Given the description of an element on the screen output the (x, y) to click on. 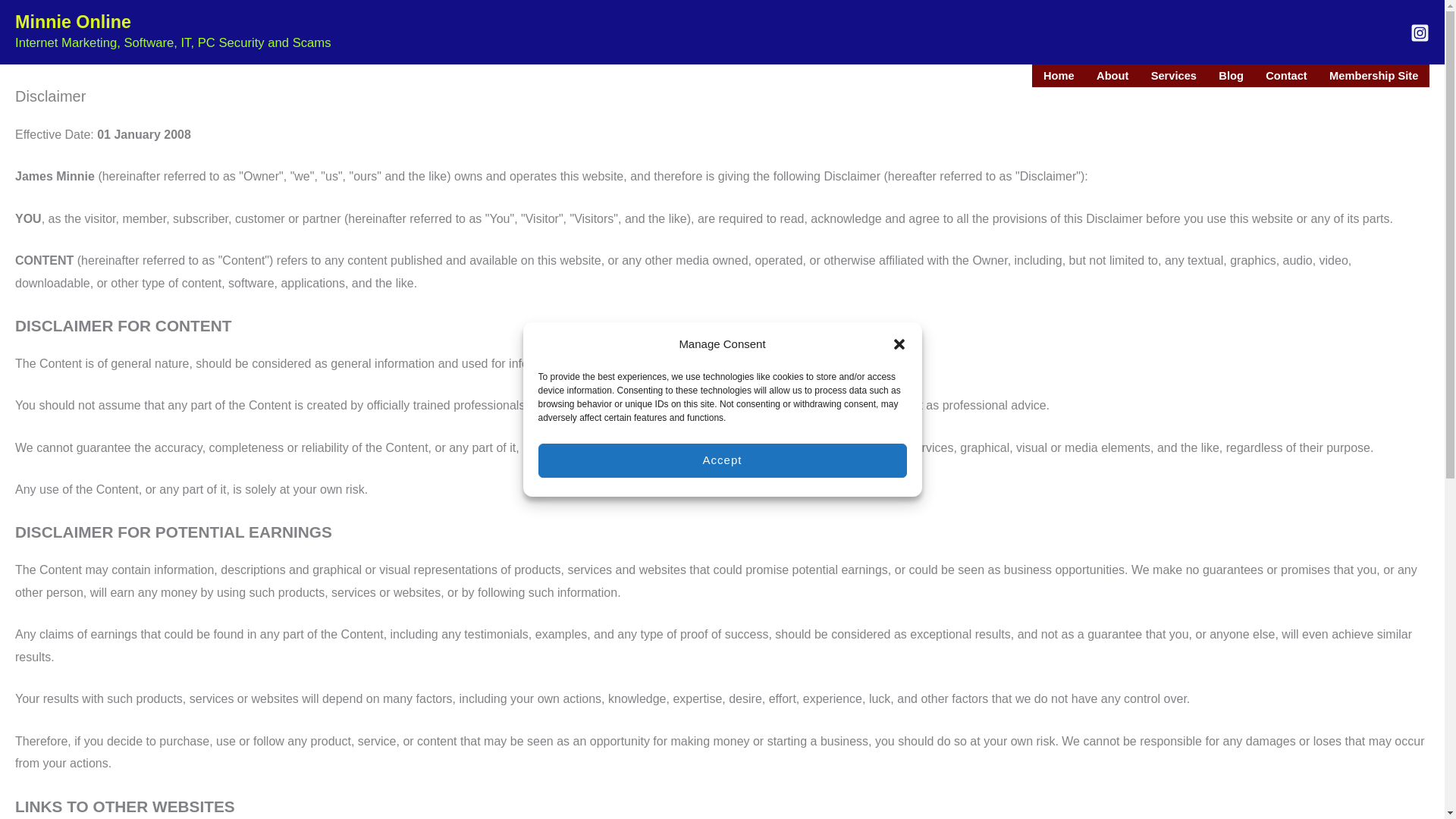
Minnie Online (72, 21)
About (1112, 75)
Services (1174, 75)
Blog (1231, 75)
Accept (722, 460)
Home (1058, 75)
Membership Site (1373, 75)
Contact (1287, 75)
